Given the description of an element on the screen output the (x, y) to click on. 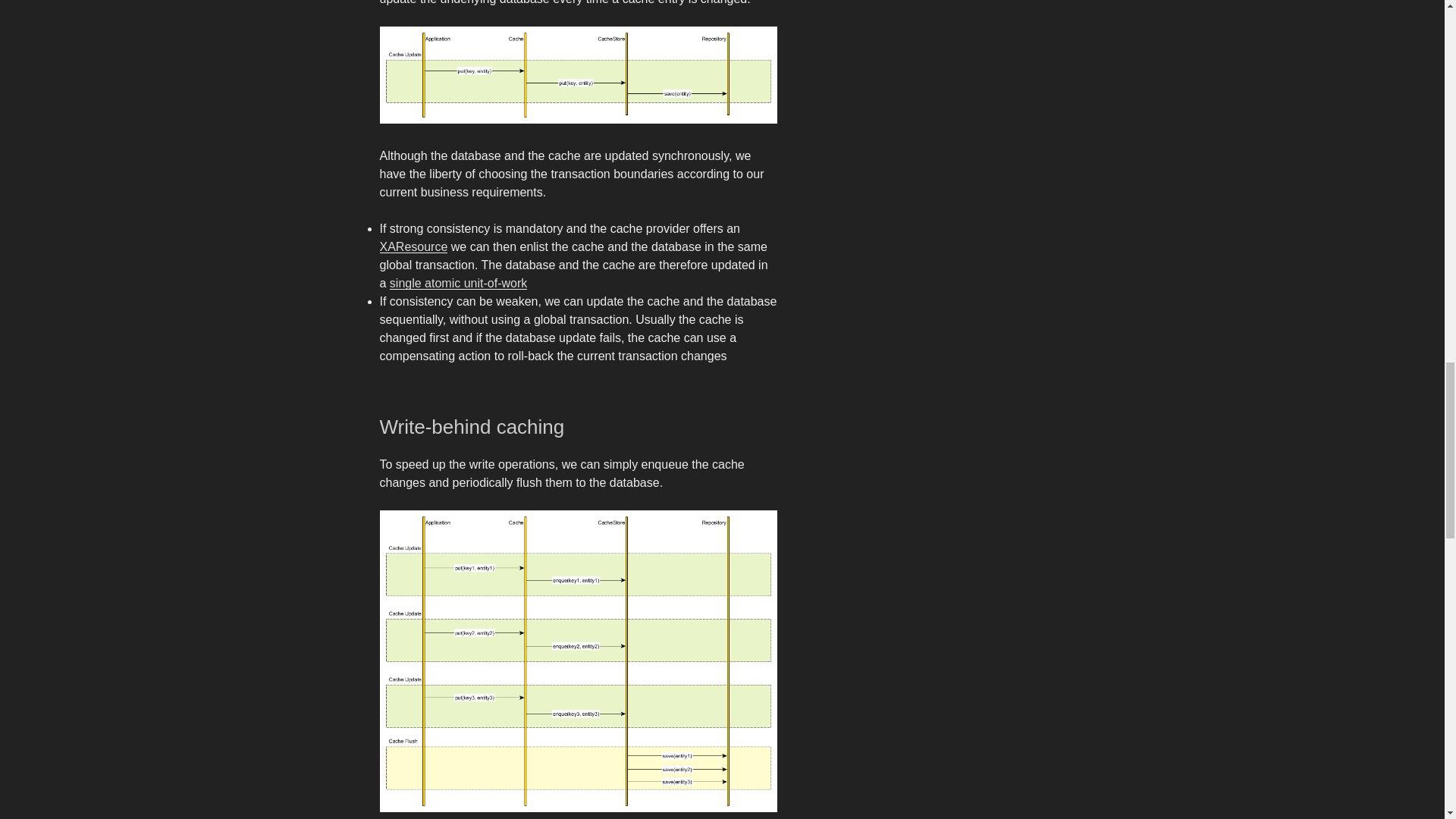
single atomic unit-of-work (458, 282)
XAResource (412, 246)
